Given the description of an element on the screen output the (x, y) to click on. 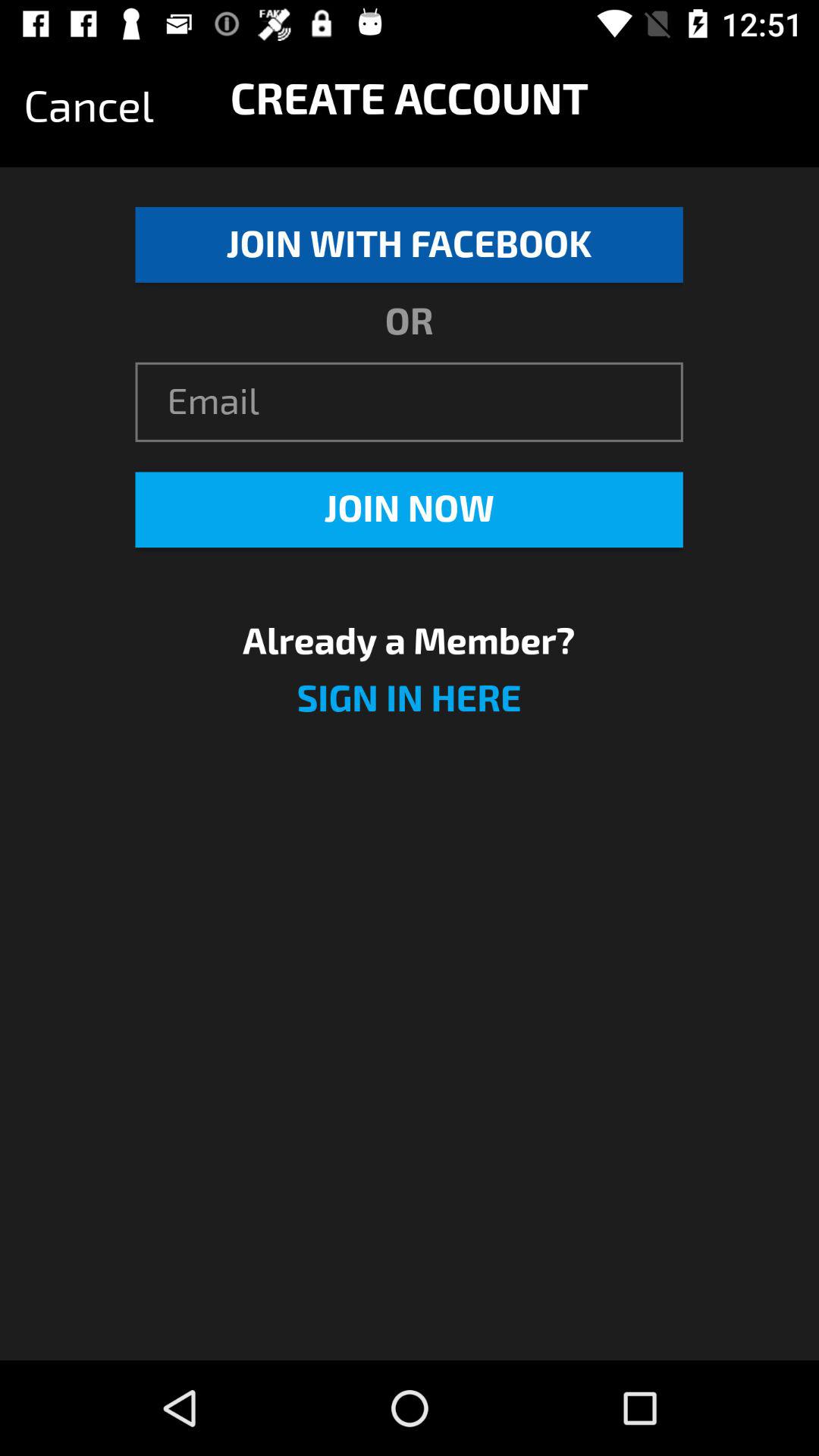
flip to join with facebook item (409, 244)
